Given the description of an element on the screen output the (x, y) to click on. 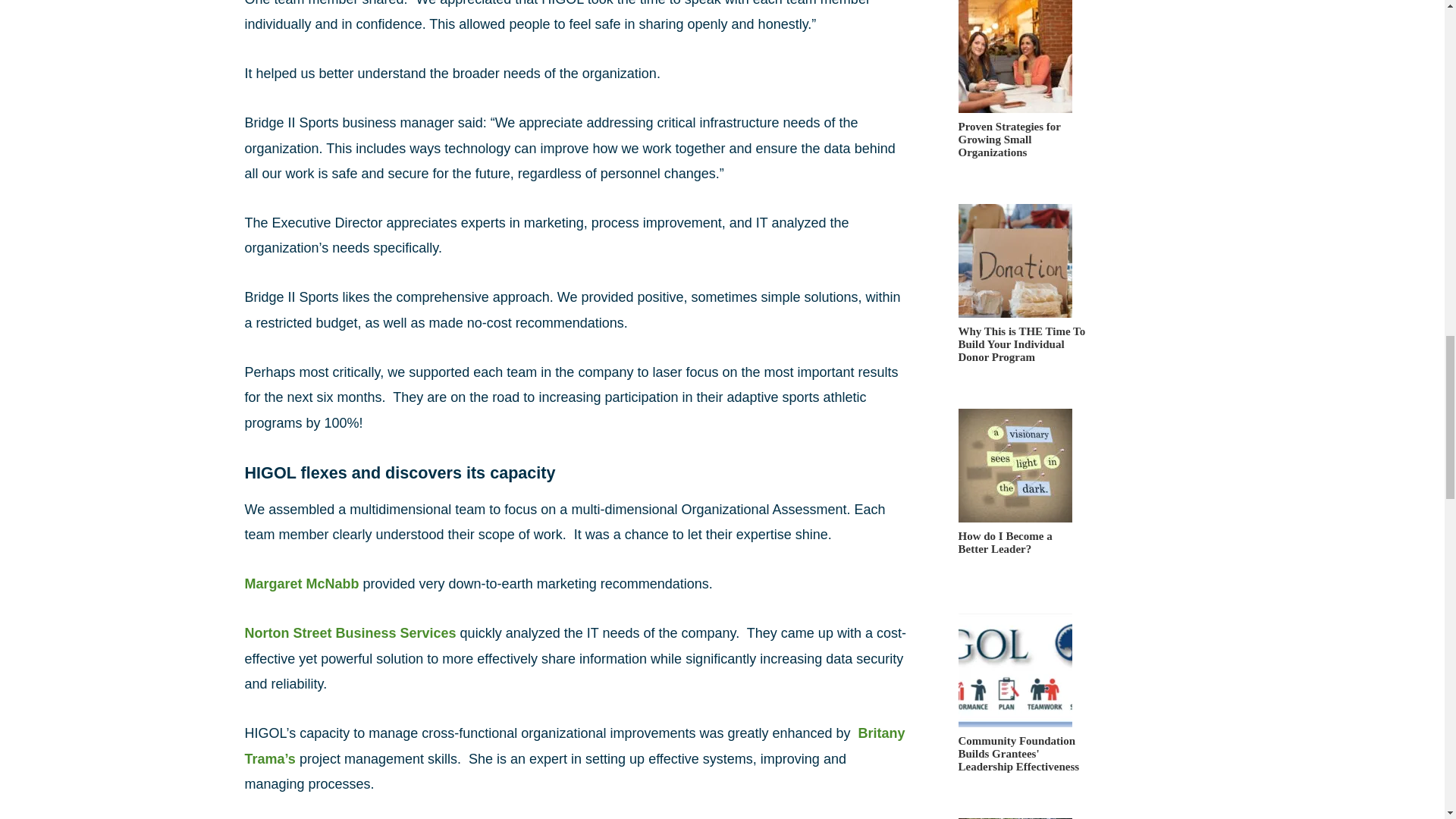
How do I Become a Better Leader? (1006, 564)
Norton Street Business Services (349, 632)
Why This is THE Time To Build Your Individual Donor Program (1021, 359)
Margaret McNabb (301, 583)
Proven Strategies for Growing Small Organizations (1021, 154)
